Given the description of an element on the screen output the (x, y) to click on. 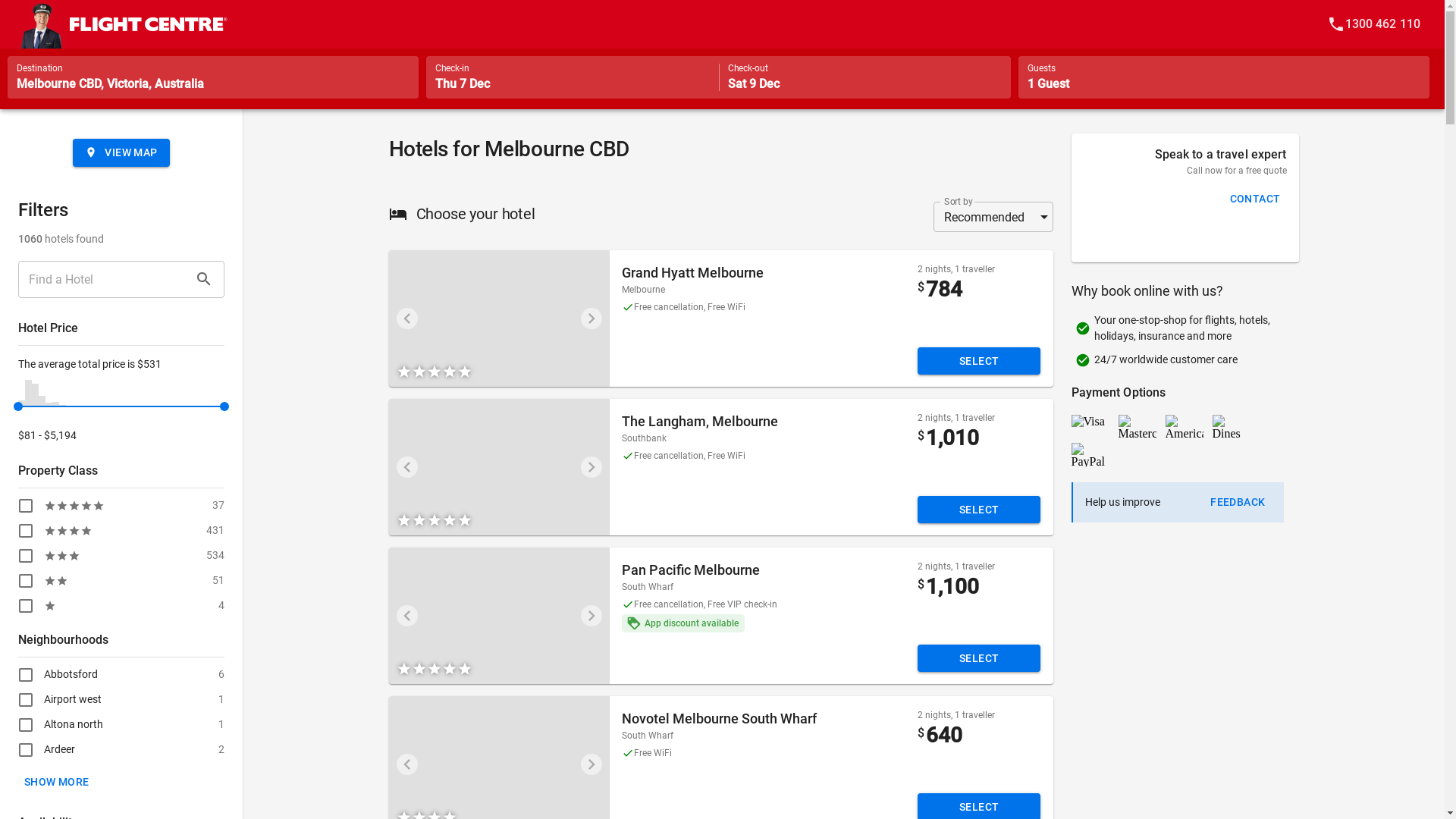
1300 462 110 Element type: text (1373, 24)
Hotel count: 144 Element type: hover (28, 392)
Hotel count: 4 Element type: hover (68, 405)
Pan Pacific Melbourne Element type: text (690, 569)
SELECT Element type: text (979, 361)
Novotel Melbourne South Wharf Element type: text (718, 718)
Hotel count: 20 Element type: hover (48, 404)
Hotel count: 55 Element type: hover (41, 400)
SHOW MORE Element type: text (56, 781)
Hotel count: 32 Element type: hover (21, 403)
The Langham, Melbourne Element type: text (699, 421)
Hotel count: 122 Element type: hover (34, 394)
SELECT Element type: text (979, 509)
SELECT Element type: text (979, 658)
Hotel count: 21 Element type: hover (55, 403)
FEEDBACK Element type: text (1237, 502)
Hotel count: 6 Element type: hover (62, 404)
CONTACT Element type: text (1254, 199)
VIEW MAP Element type: text (120, 152)
Grand Hyatt Melbourne Element type: text (692, 272)
